Given the description of an element on the screen output the (x, y) to click on. 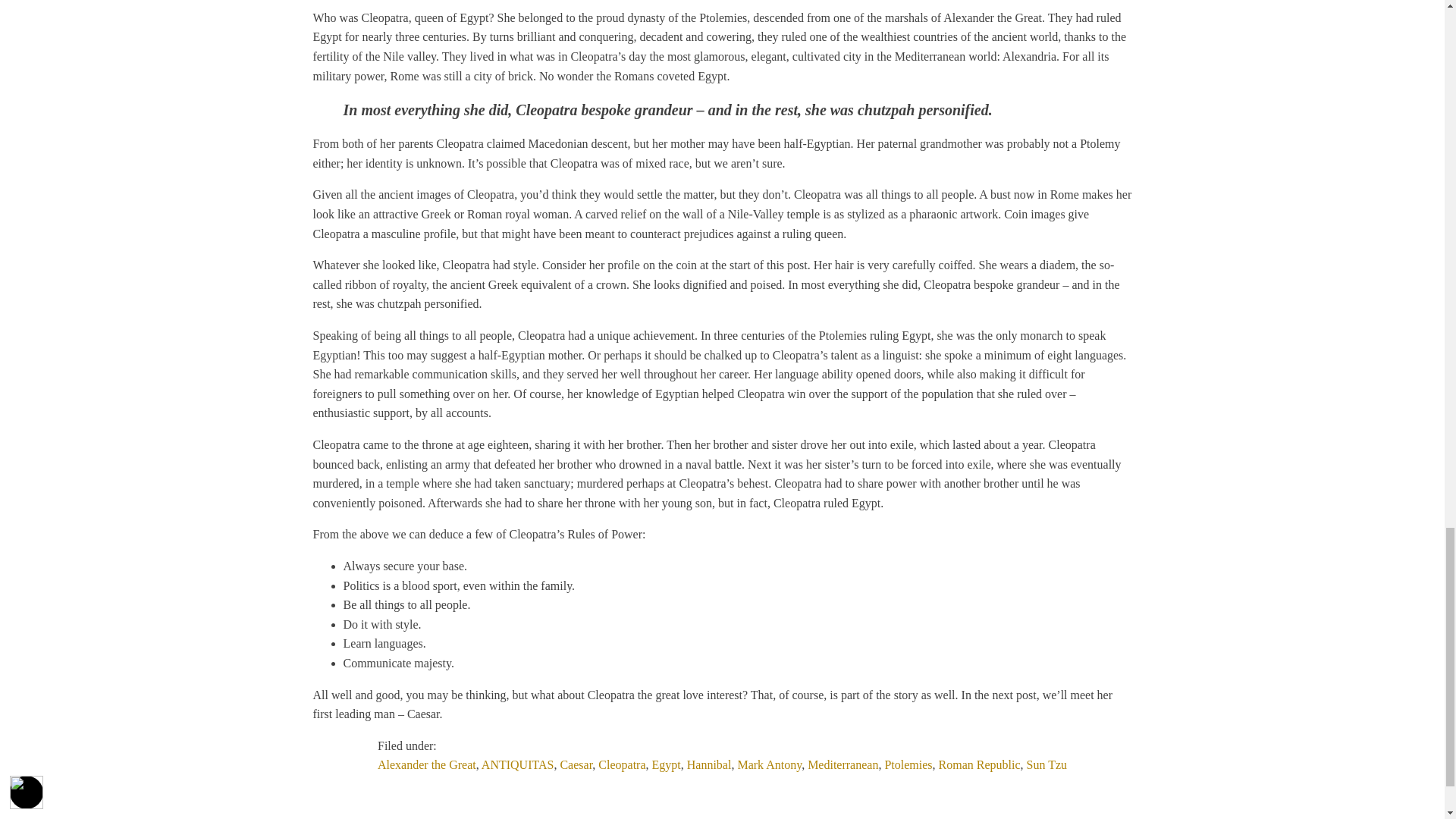
Ptolemies (907, 764)
Caesar (575, 764)
Mediterranean (842, 764)
Sun Tzu (1046, 764)
Hannibal (709, 764)
Roman Republic (979, 764)
Egypt (666, 764)
ANTIQUITAS (517, 764)
Alexander the Great (426, 764)
Cleopatra (621, 764)
